Given the description of an element on the screen output the (x, y) to click on. 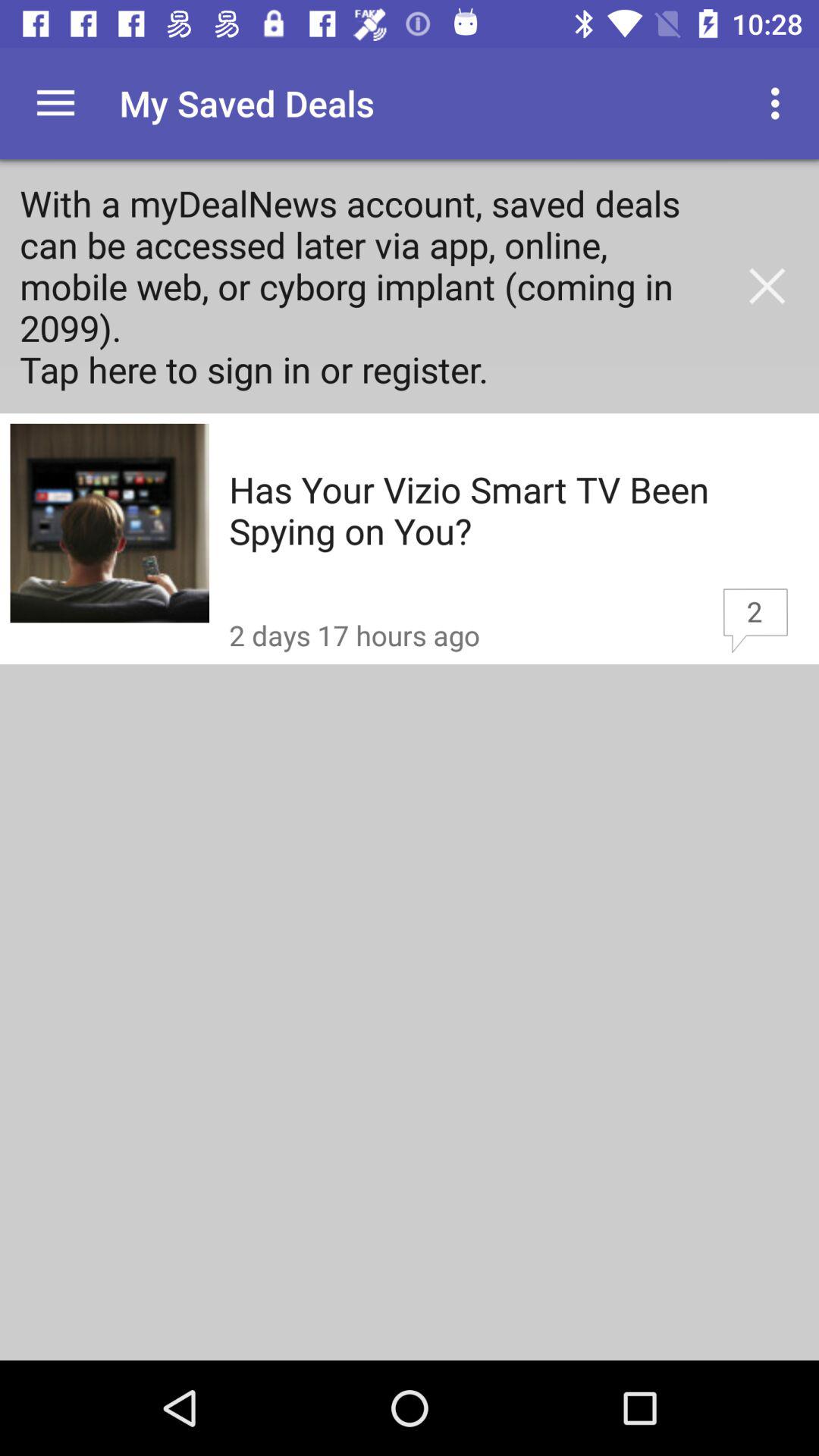
turn off the app to the right of my saved deals item (779, 103)
